Given the description of an element on the screen output the (x, y) to click on. 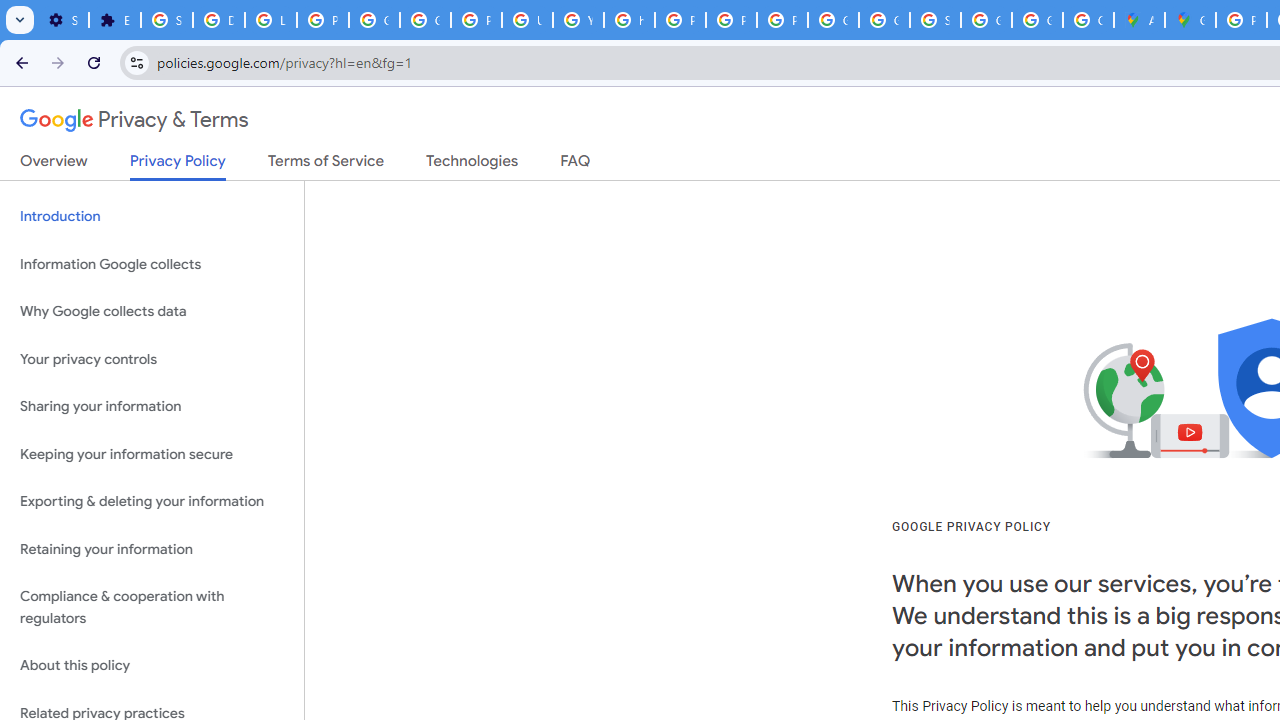
Overview (54, 165)
Retaining your information (152, 548)
https://scholar.google.com/ (629, 20)
Settings - On startup (63, 20)
Technologies (472, 165)
Create your Google Account (1087, 20)
Exporting & deleting your information (152, 502)
Sharing your information (152, 407)
Sign in - Google Accounts (166, 20)
Google Account Help (374, 20)
FAQ (575, 165)
Compliance & cooperation with regulators (152, 607)
